Given the description of an element on the screen output the (x, y) to click on. 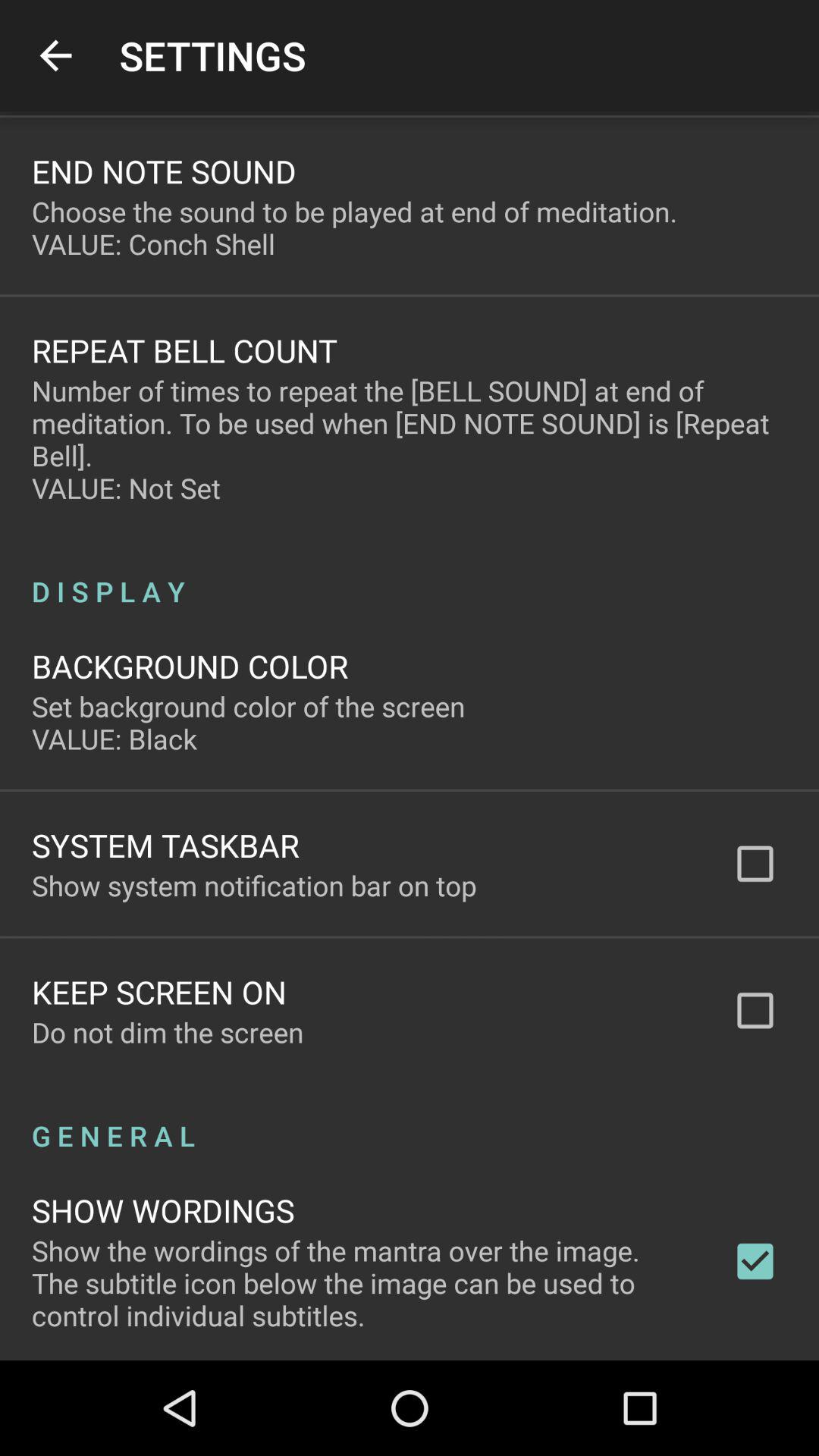
tap app to the left of settings (55, 55)
